Given the description of an element on the screen output the (x, y) to click on. 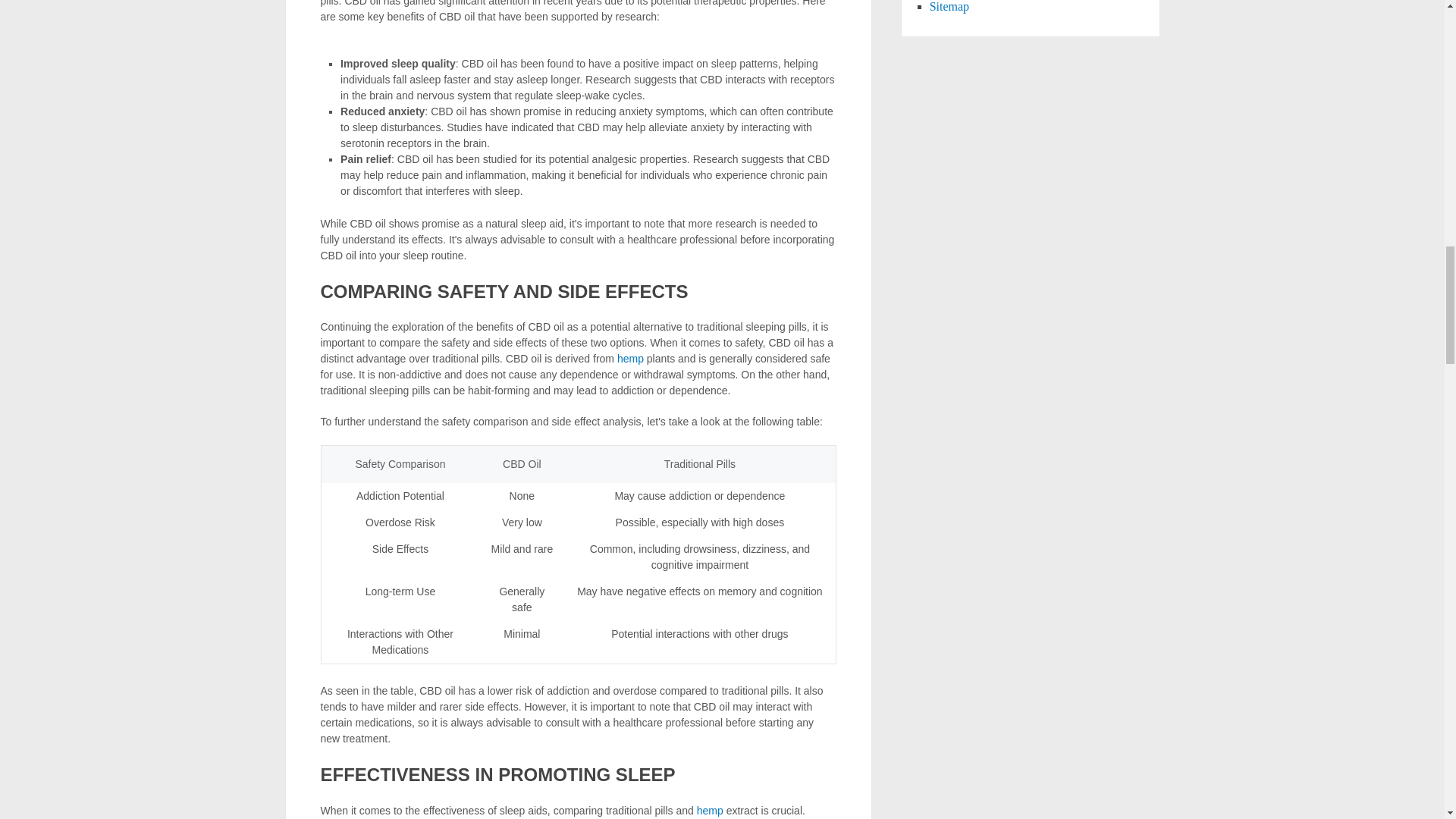
hemp (710, 810)
hemp (630, 358)
hemp (710, 810)
hemp (630, 358)
